Given the description of an element on the screen output the (x, y) to click on. 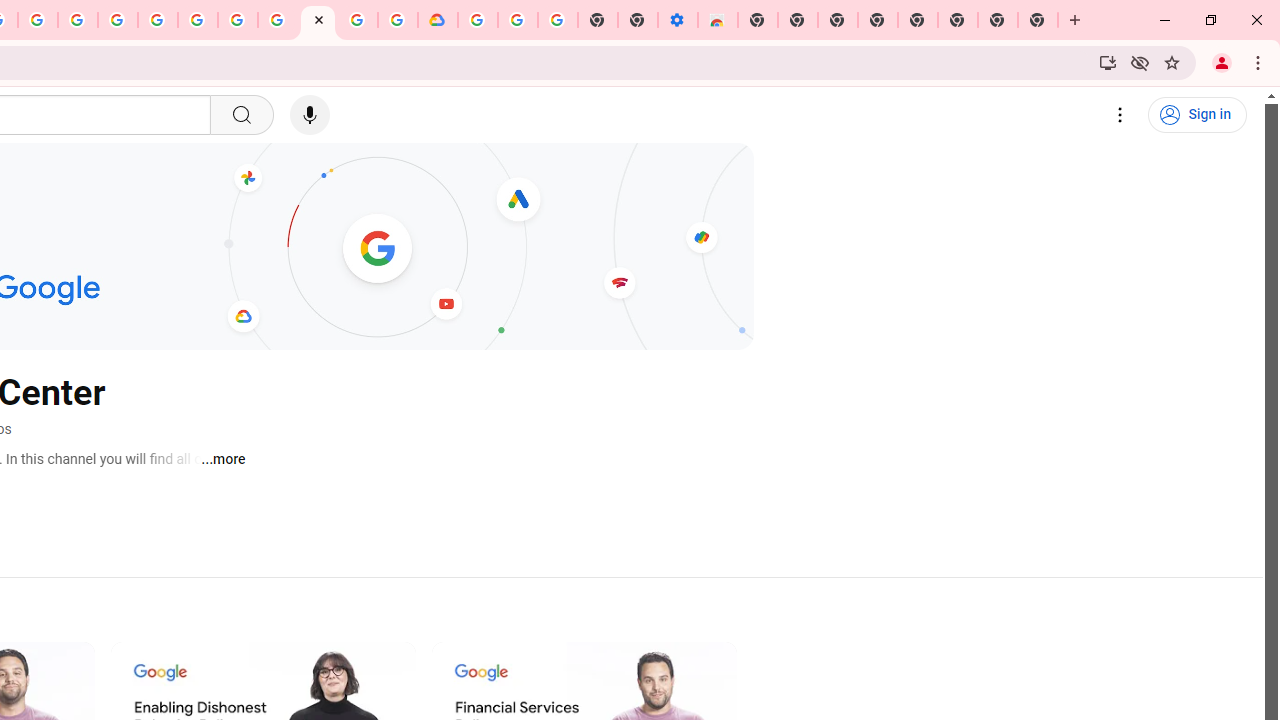
New Tab (758, 20)
